Given the description of an element on the screen output the (x, y) to click on. 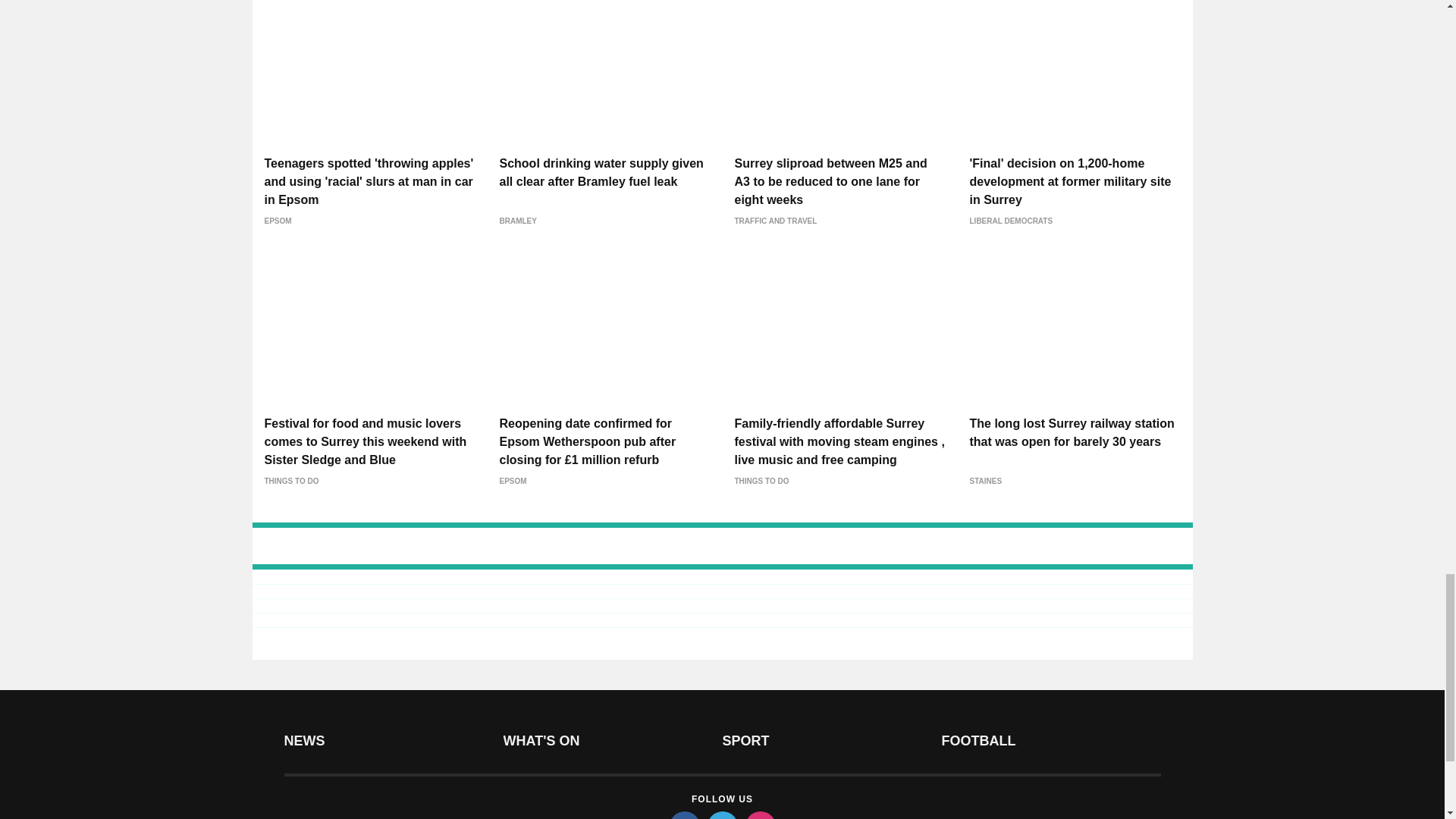
instagram (759, 815)
facebook (683, 815)
twitter (721, 815)
